Given the description of an element on the screen output the (x, y) to click on. 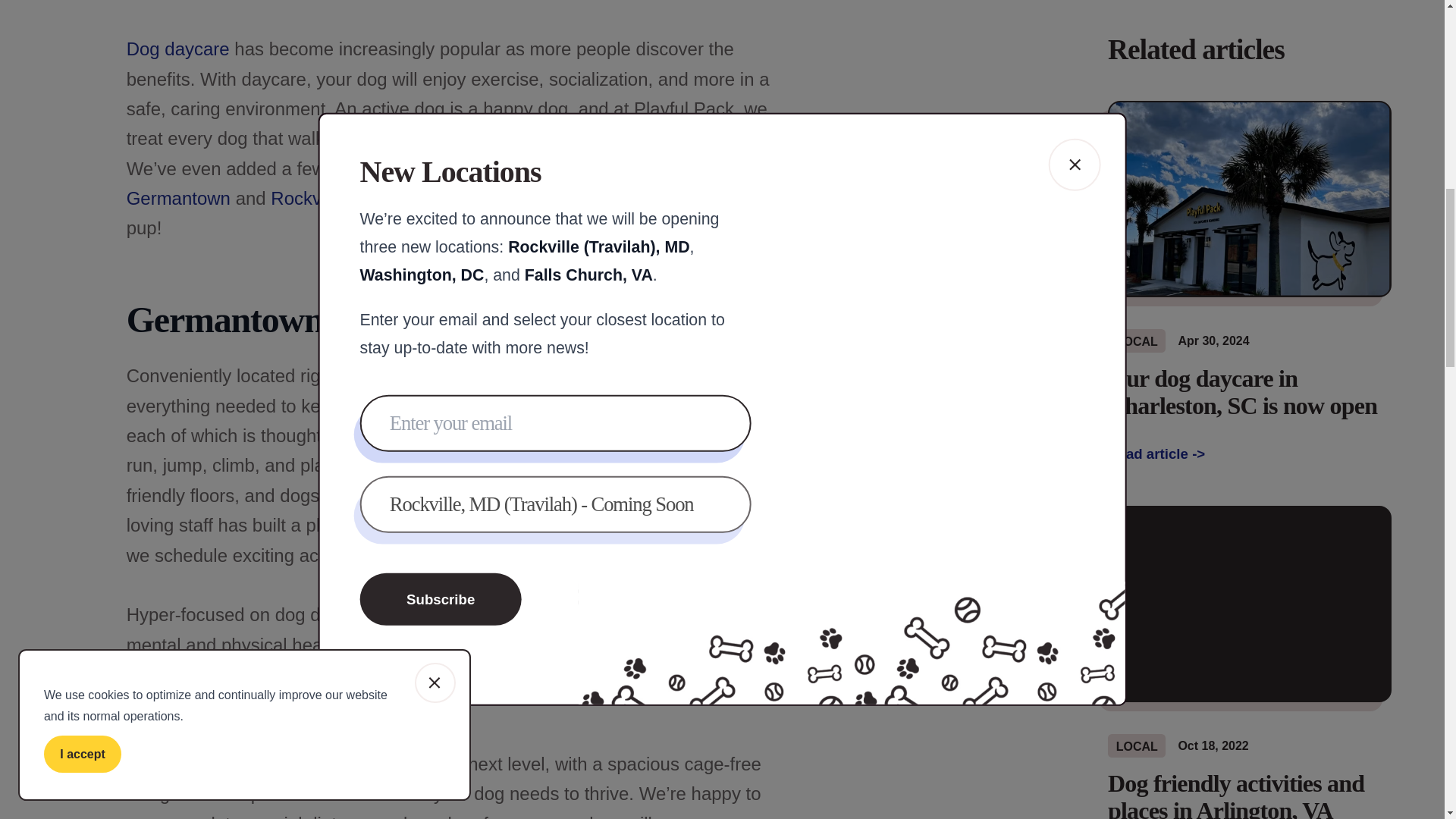
Our dog daycare in Charleston, SC is now open (1249, 391)
Dog friendly activities and places in Arlington, VA (1249, 794)
locations (404, 168)
Germantown (180, 198)
Dog daycare (178, 48)
Rockville (306, 198)
LOCAL (1137, 340)
LOCAL (1137, 745)
